Given the description of an element on the screen output the (x, y) to click on. 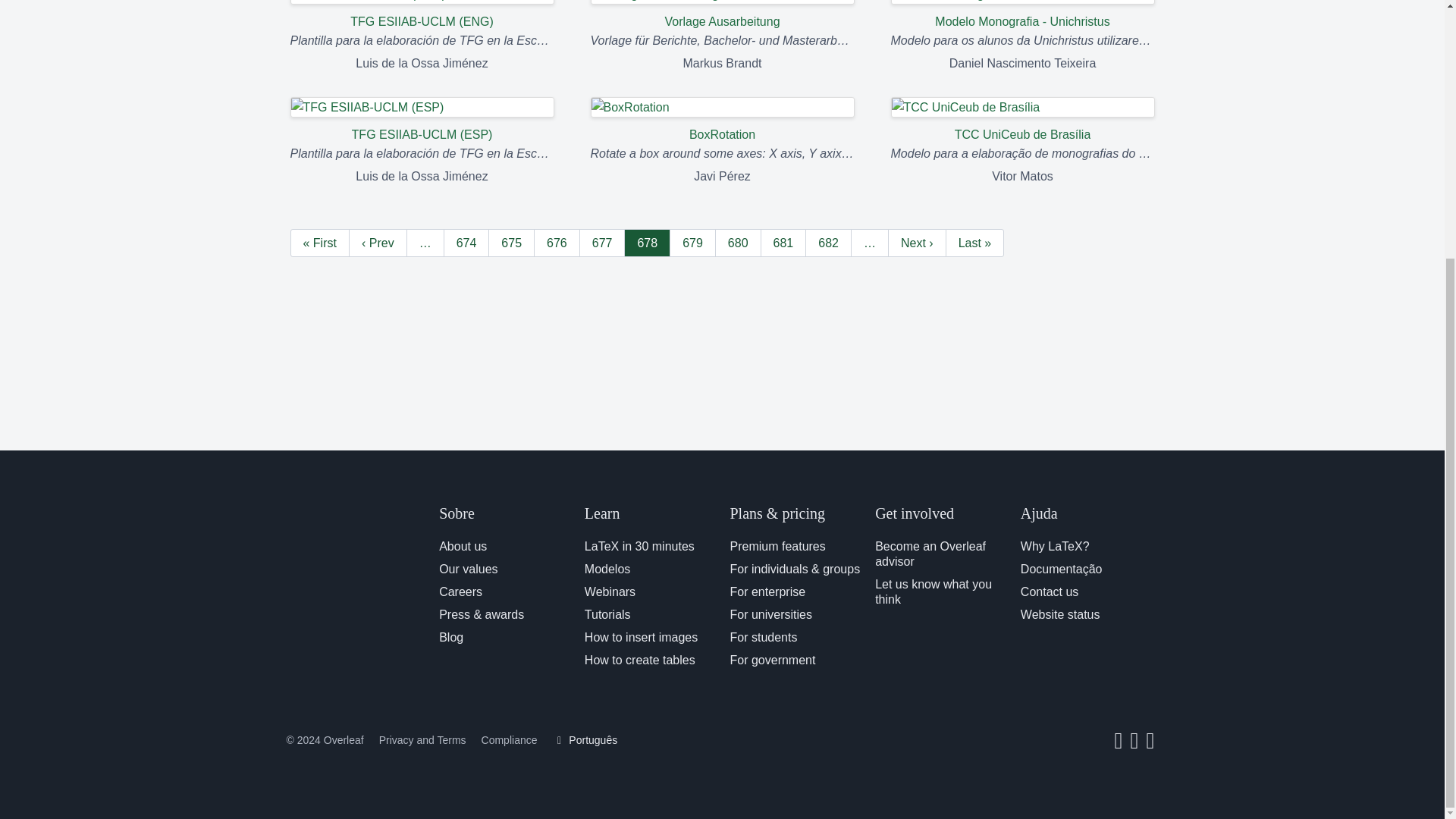
675 (510, 243)
677 (602, 243)
674 (466, 243)
679 (692, 243)
Idioma (584, 739)
680 (737, 243)
676 (556, 243)
Modelo Monografia - Unichristus (1021, 15)
Vorlage Ausarbeitung (721, 15)
BoxRotation (721, 120)
